Given the description of an element on the screen output the (x, y) to click on. 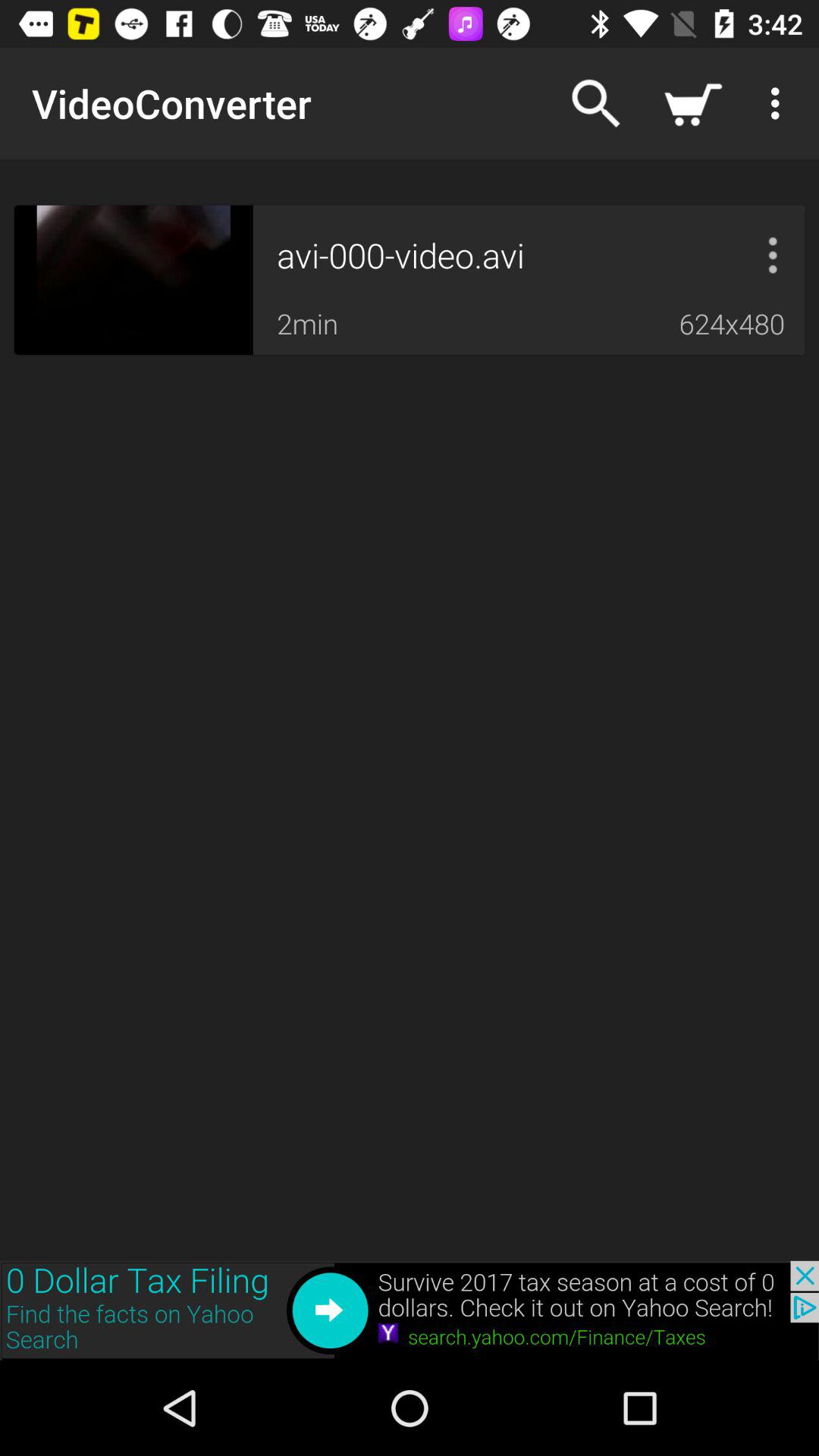
go to the advertisement (409, 1310)
